Given the description of an element on the screen output the (x, y) to click on. 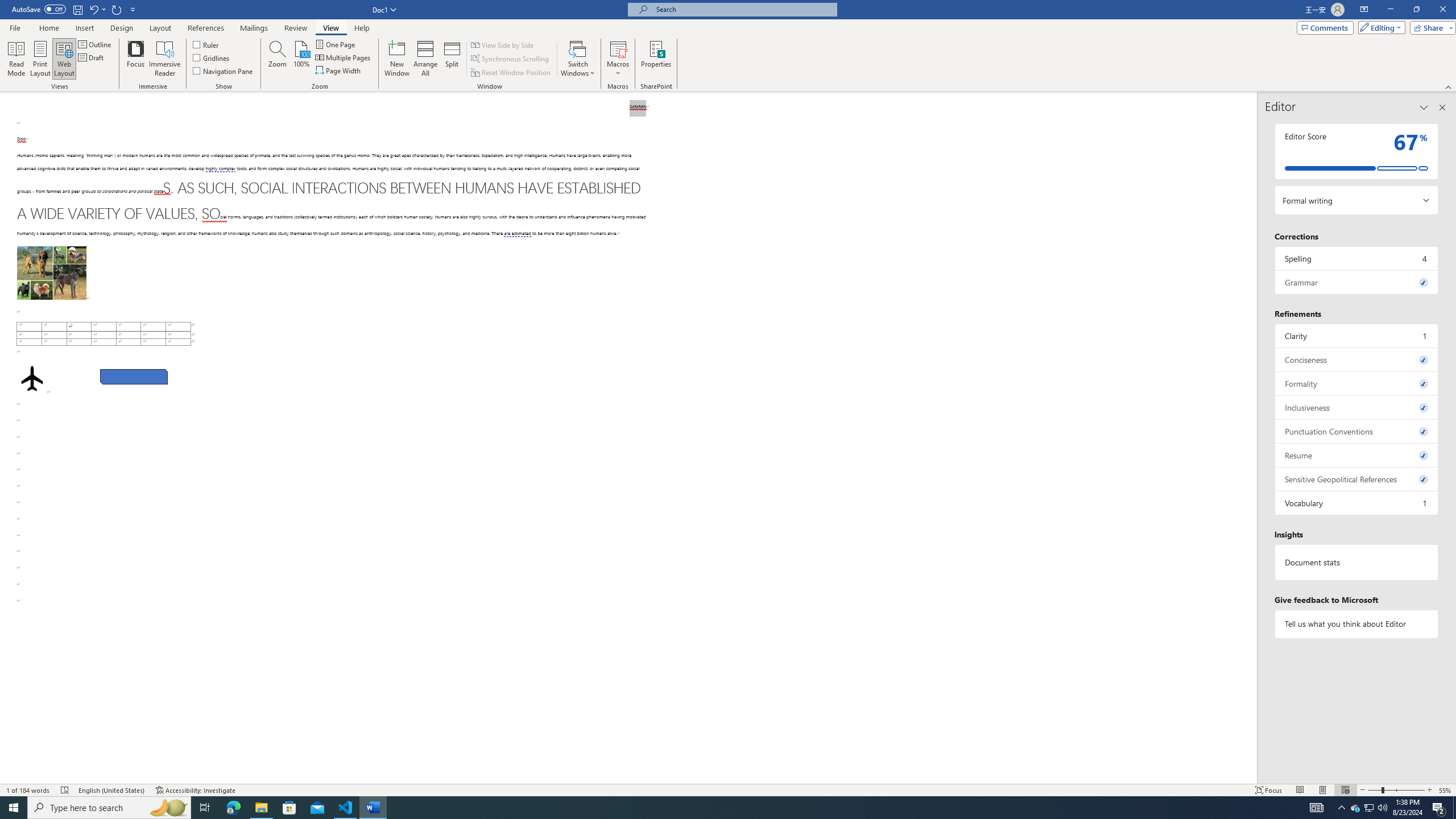
Synchronous Scrolling (510, 58)
One Page (335, 44)
Ruler (206, 44)
Draft (91, 56)
Reset Window Position (511, 72)
